Given the description of an element on the screen output the (x, y) to click on. 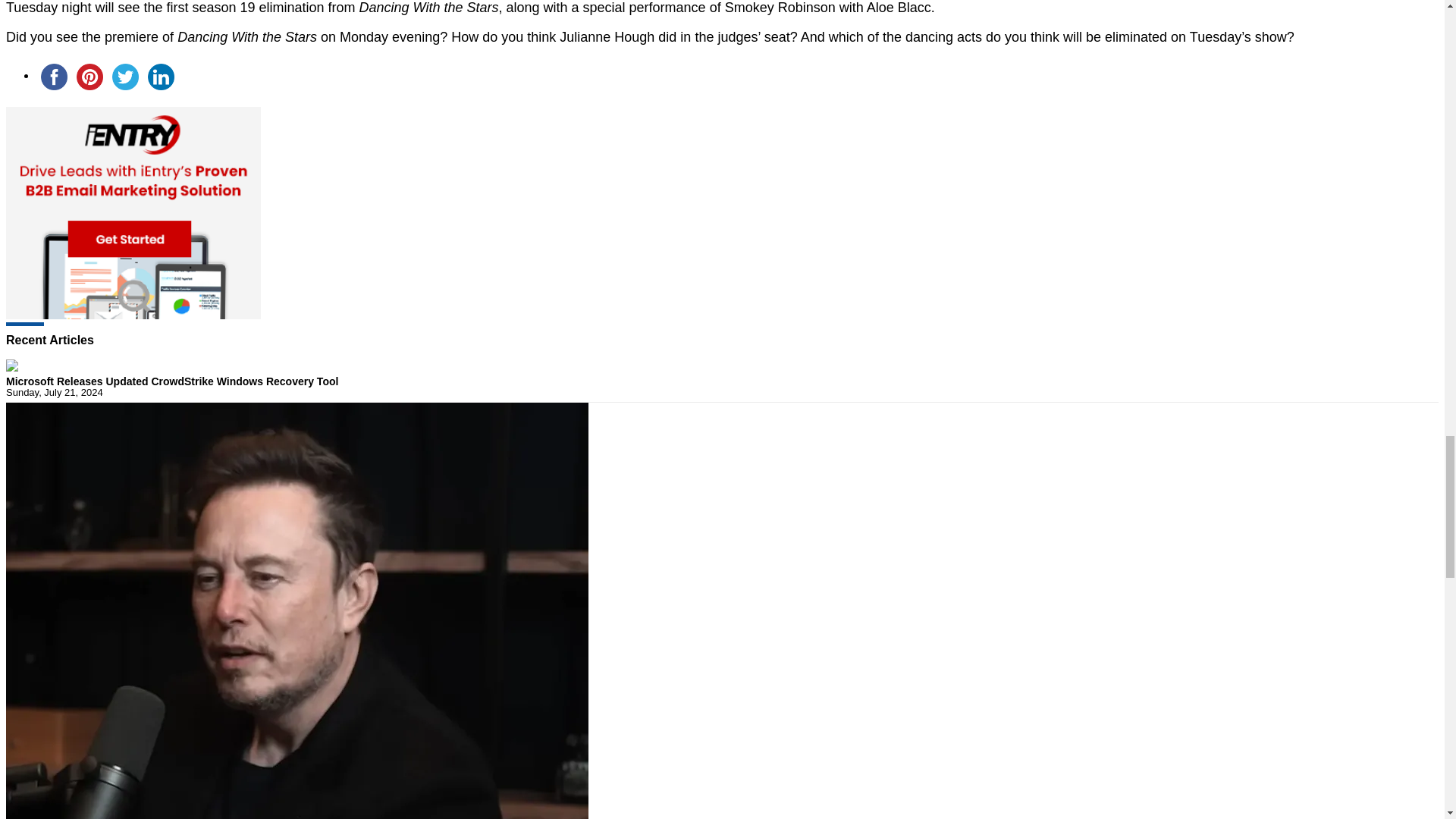
facebook (53, 76)
pinterest (89, 76)
